Given the description of an element on the screen output the (x, y) to click on. 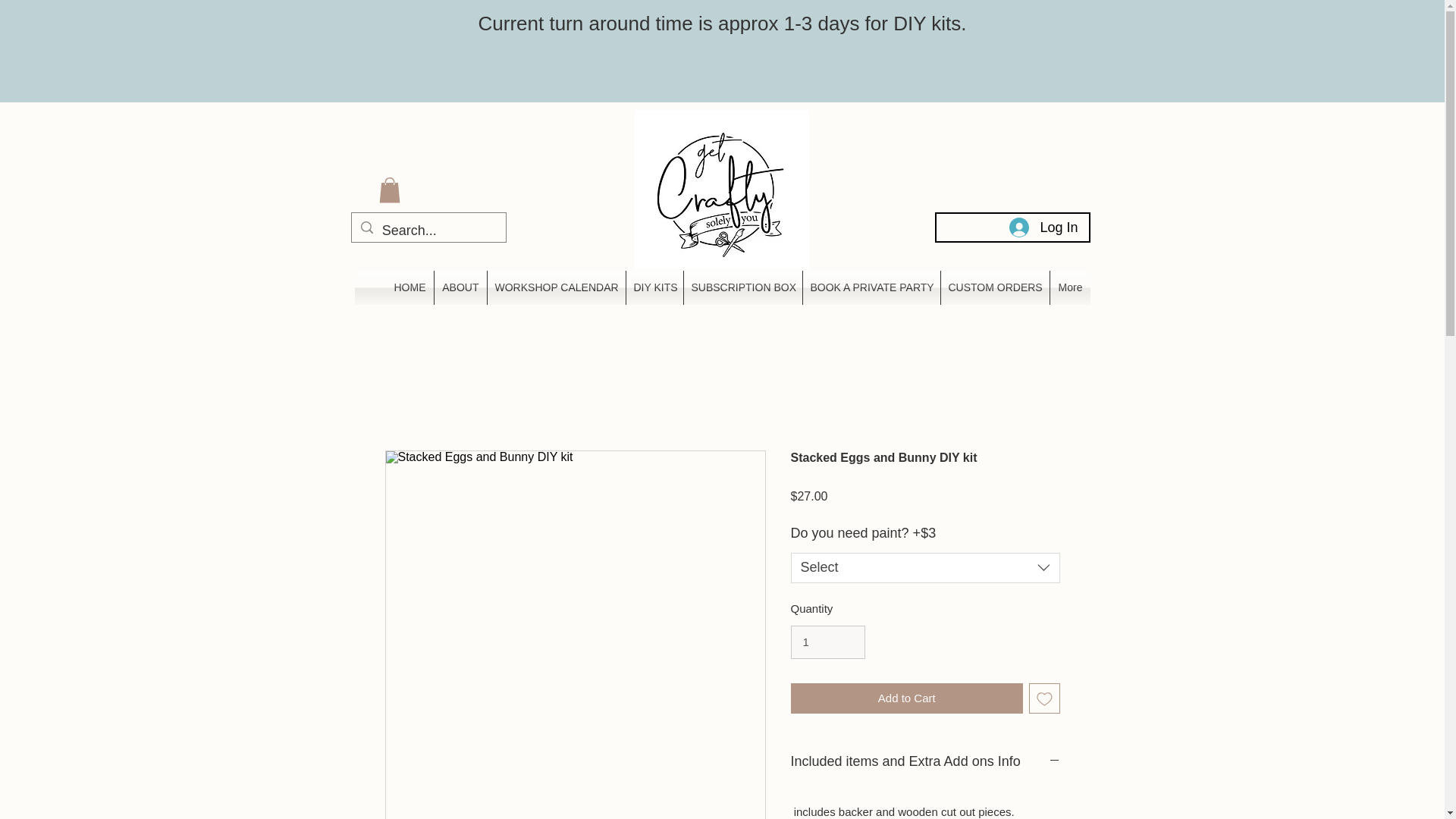
1 (827, 642)
HOME (410, 287)
Select (924, 567)
CUSTOM ORDERS (994, 287)
WORKSHOP CALENDAR (555, 287)
DIY KITS (654, 287)
Included items and Extra Add ons Info (924, 761)
Log In (1042, 227)
ABOUT (459, 287)
SUBSCRIPTION BOX (743, 287)
